Given the description of an element on the screen output the (x, y) to click on. 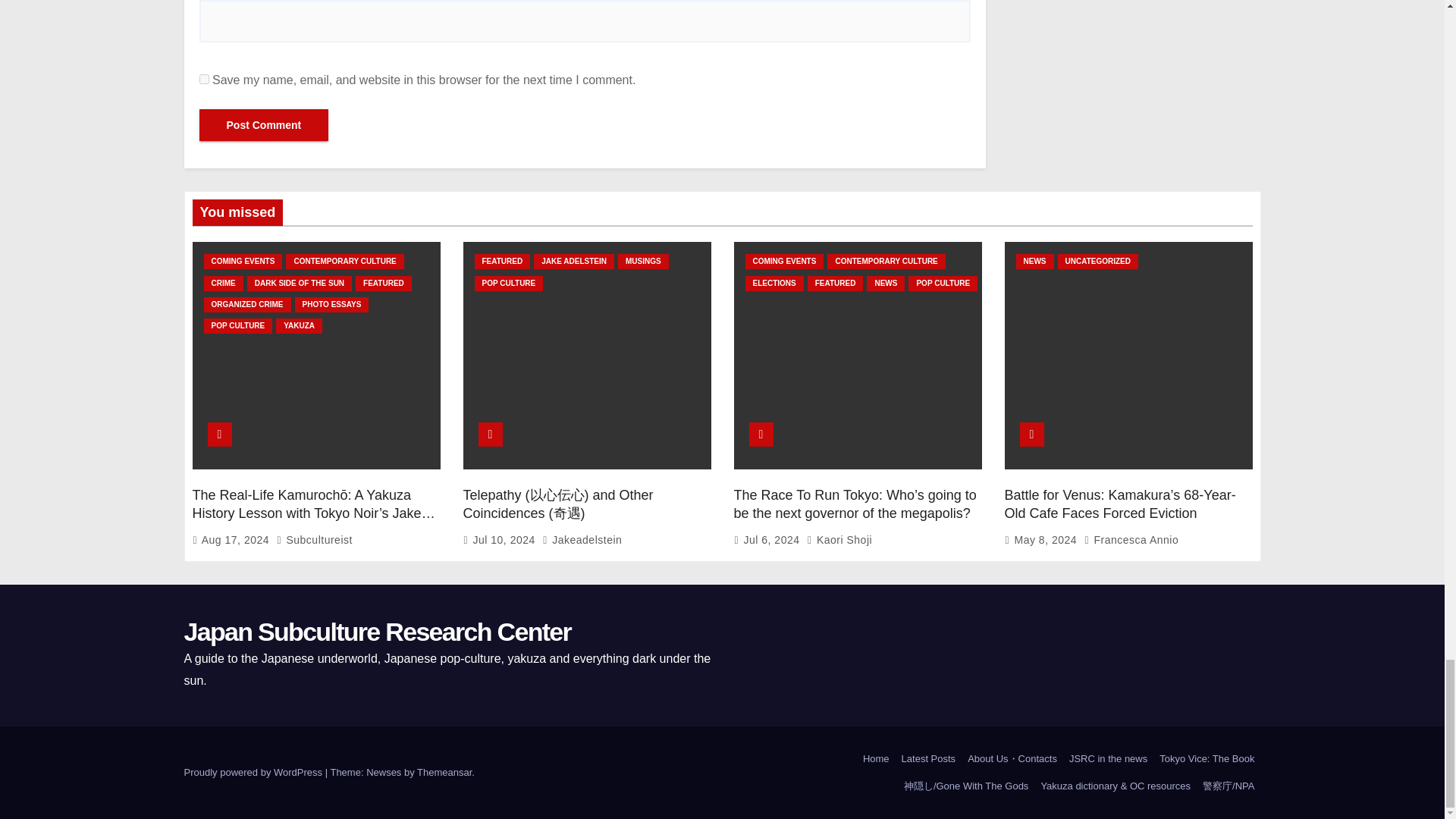
yes (203, 79)
Home (876, 759)
Post Comment (263, 124)
